Given the description of an element on the screen output the (x, y) to click on. 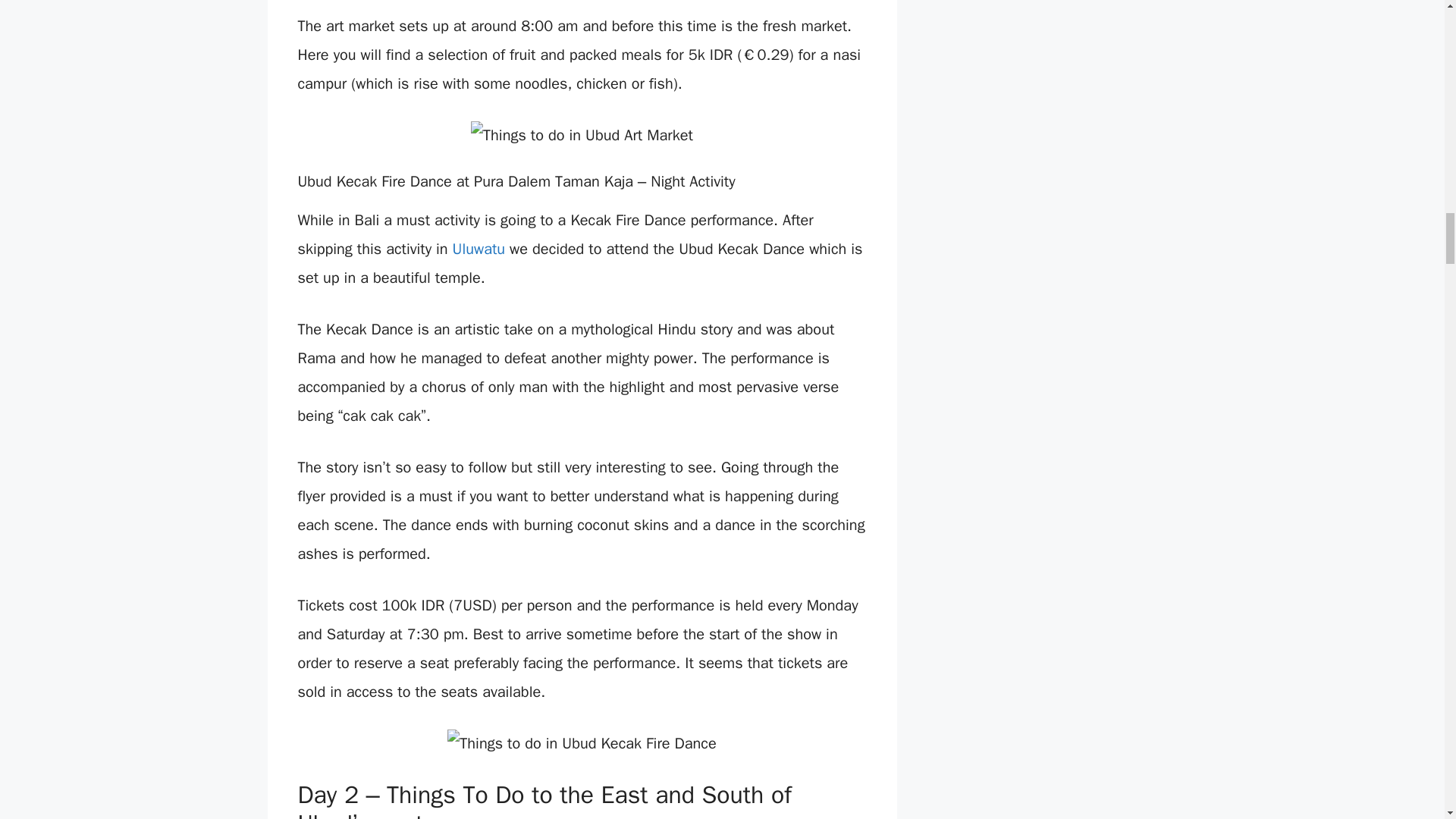
Uluwatu (478, 248)
